Given the description of an element on the screen output the (x, y) to click on. 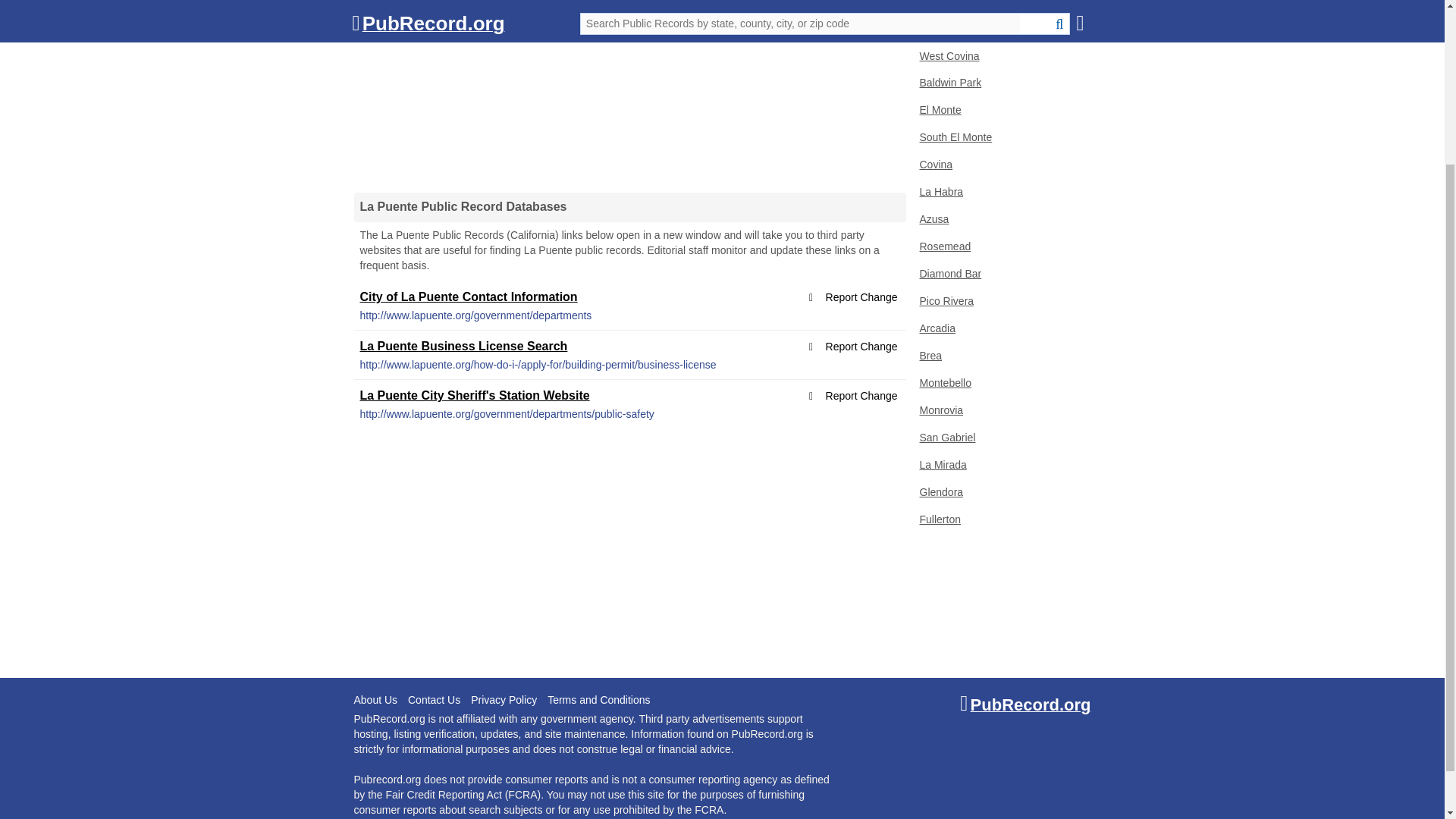
City of La Puente Contact Information (467, 296)
La Puente City Sheriff's Station Website (474, 395)
Advertisement (629, 549)
Arcadia (999, 329)
Advertisement (629, 88)
San Gabriel (999, 438)
La Puente Business License Search (463, 345)
Pico Rivera (999, 301)
City of La Puente Contact Information (467, 296)
Baldwin Park (999, 83)
La Puente Business License Search (463, 345)
Covina (999, 165)
South El Monte (999, 137)
La Puente City Sheriff's Station Website (474, 395)
Azusa (999, 219)
